Given the description of an element on the screen output the (x, y) to click on. 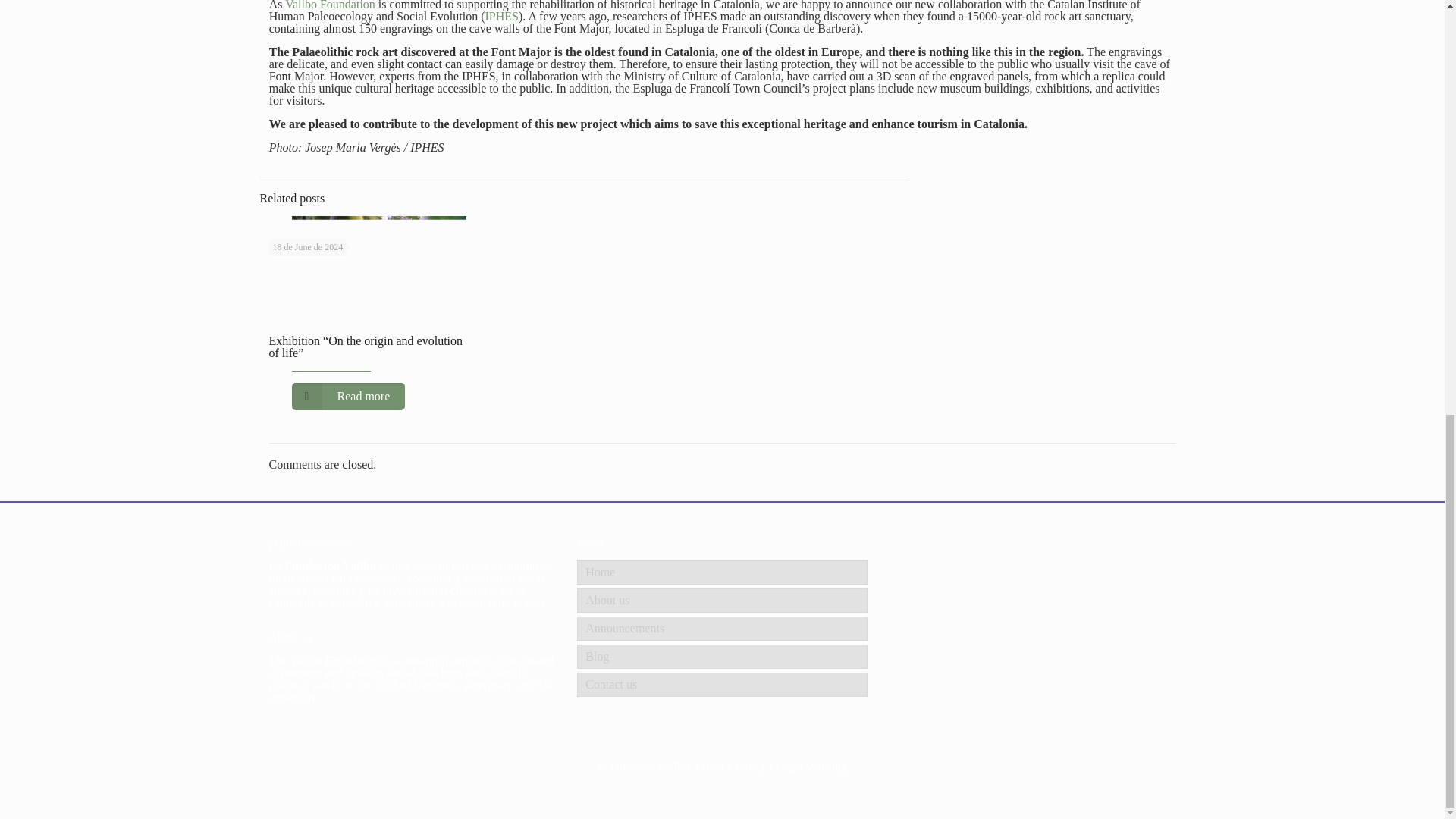
Contact us (721, 684)
Legal Warning (810, 766)
About us (721, 600)
Blog (721, 656)
Announcements (721, 628)
IPHES (501, 15)
Home (721, 572)
Privacy Policy (731, 766)
Vallbo Foundation (330, 5)
Read more (347, 396)
